Given the description of an element on the screen output the (x, y) to click on. 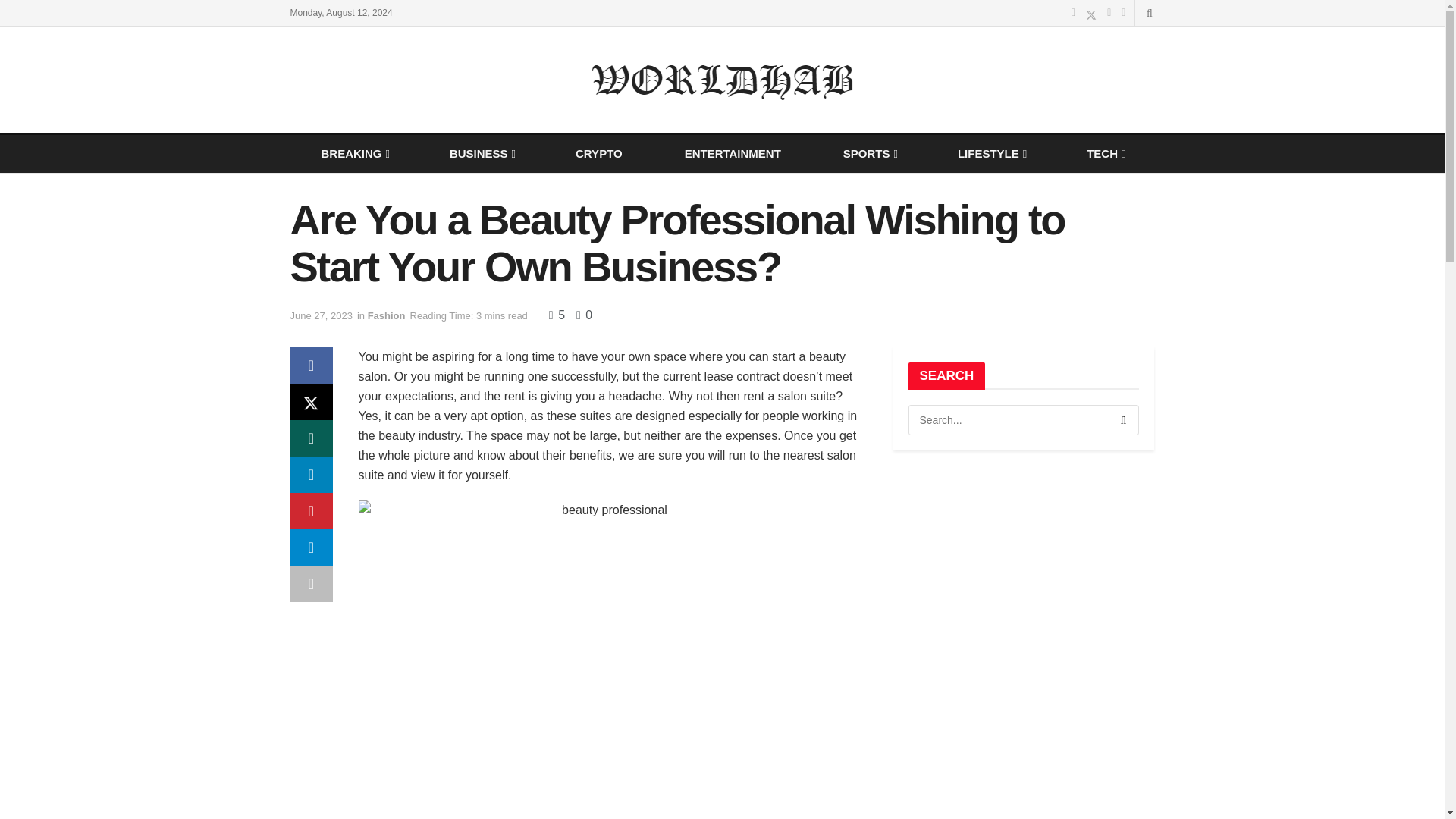
BUSINESS (481, 153)
ENTERTAINMENT (732, 153)
SPORTS (869, 153)
BREAKING (353, 153)
CRYPTO (598, 153)
TECH (1104, 153)
LIFESTYLE (990, 153)
